Given the description of an element on the screen output the (x, y) to click on. 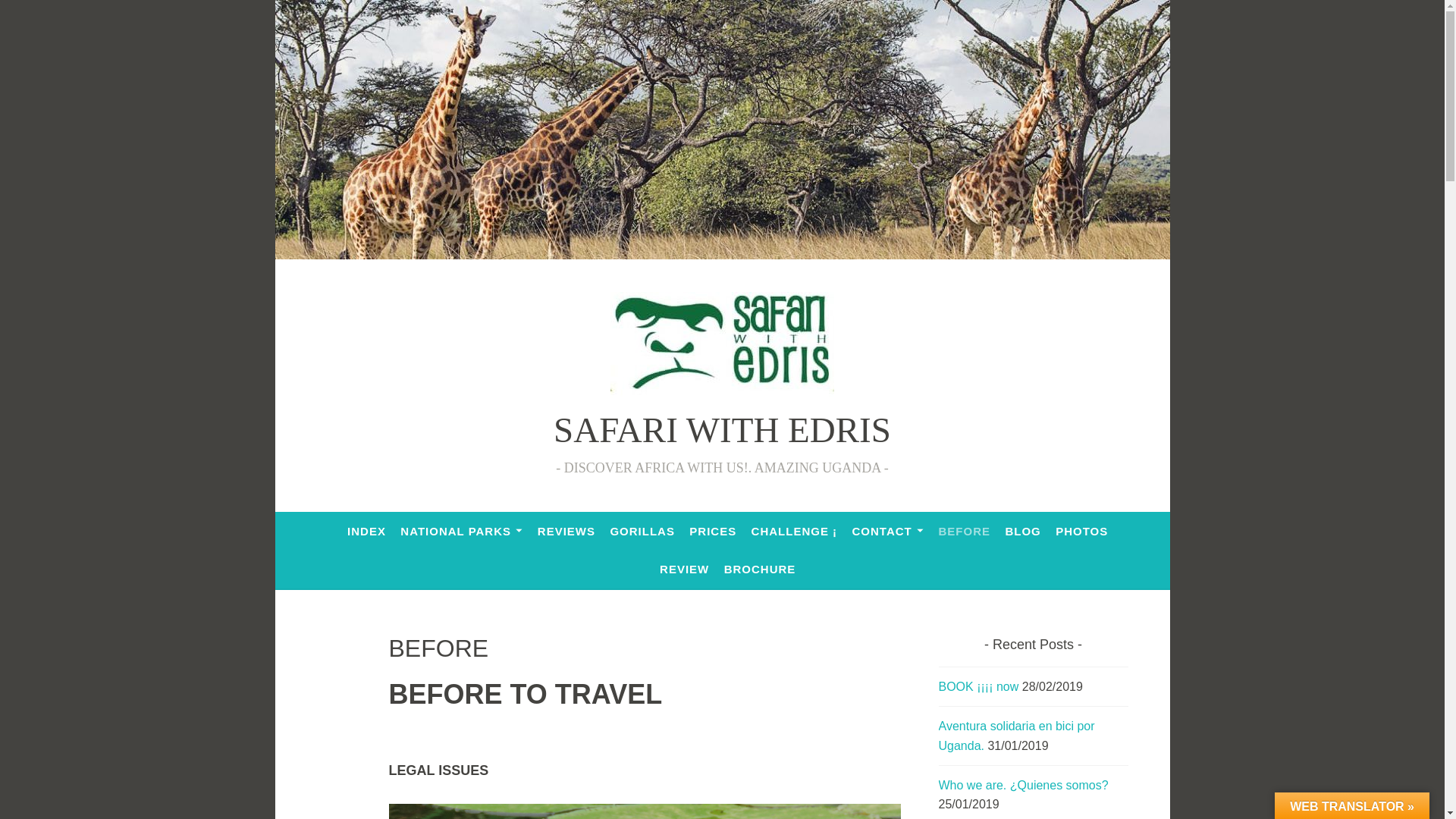
PRICES (712, 531)
REVIEWS (566, 531)
INDEX (366, 531)
BEFORE (965, 531)
BLOG (1022, 531)
CONTACT (887, 531)
SAFARI WITH EDRIS (722, 429)
Aventura solidaria en bici por Uganda. (1016, 735)
GORILLAS (642, 531)
